Given the description of an element on the screen output the (x, y) to click on. 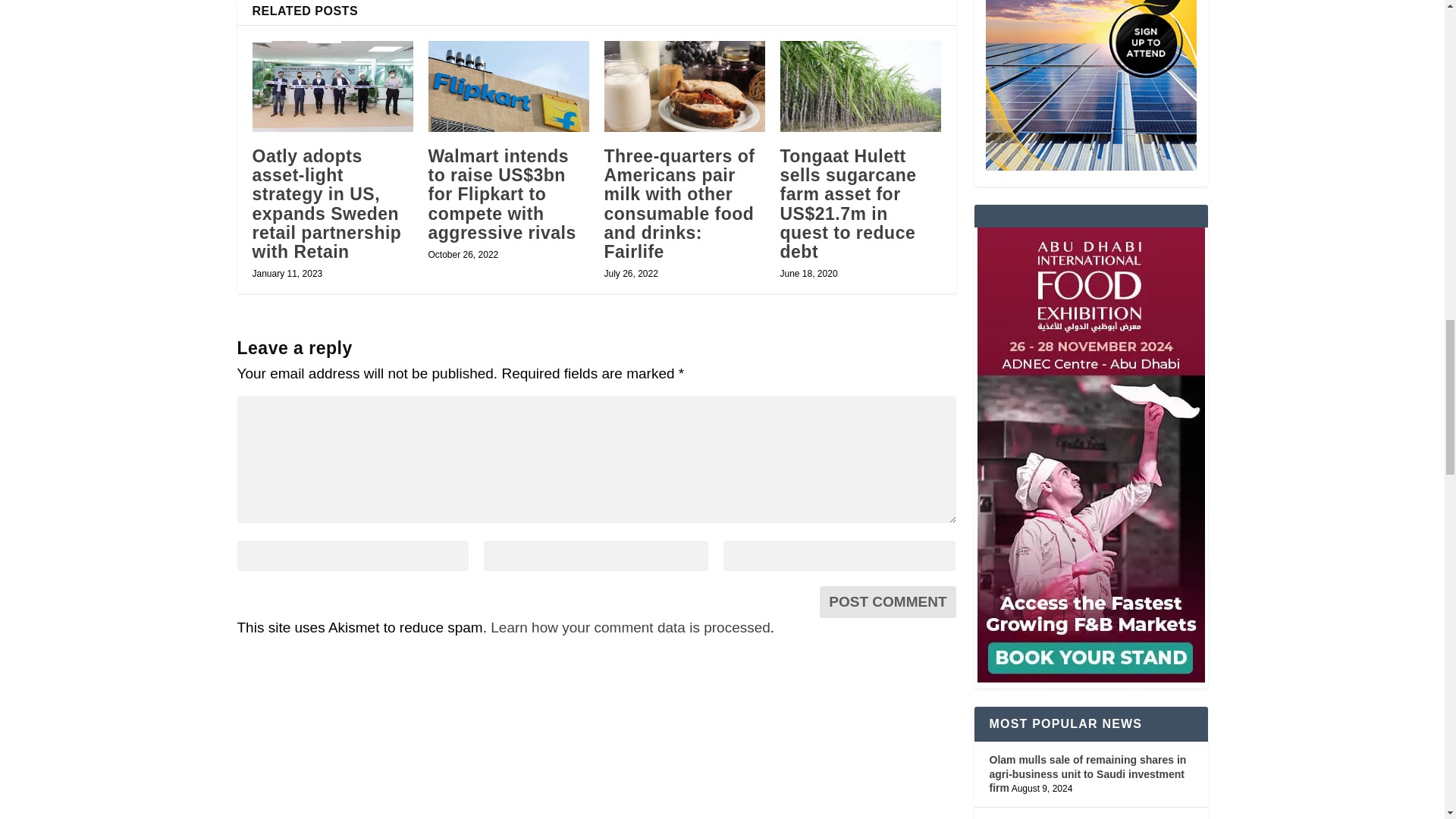
Post Comment (887, 602)
